Given the description of an element on the screen output the (x, y) to click on. 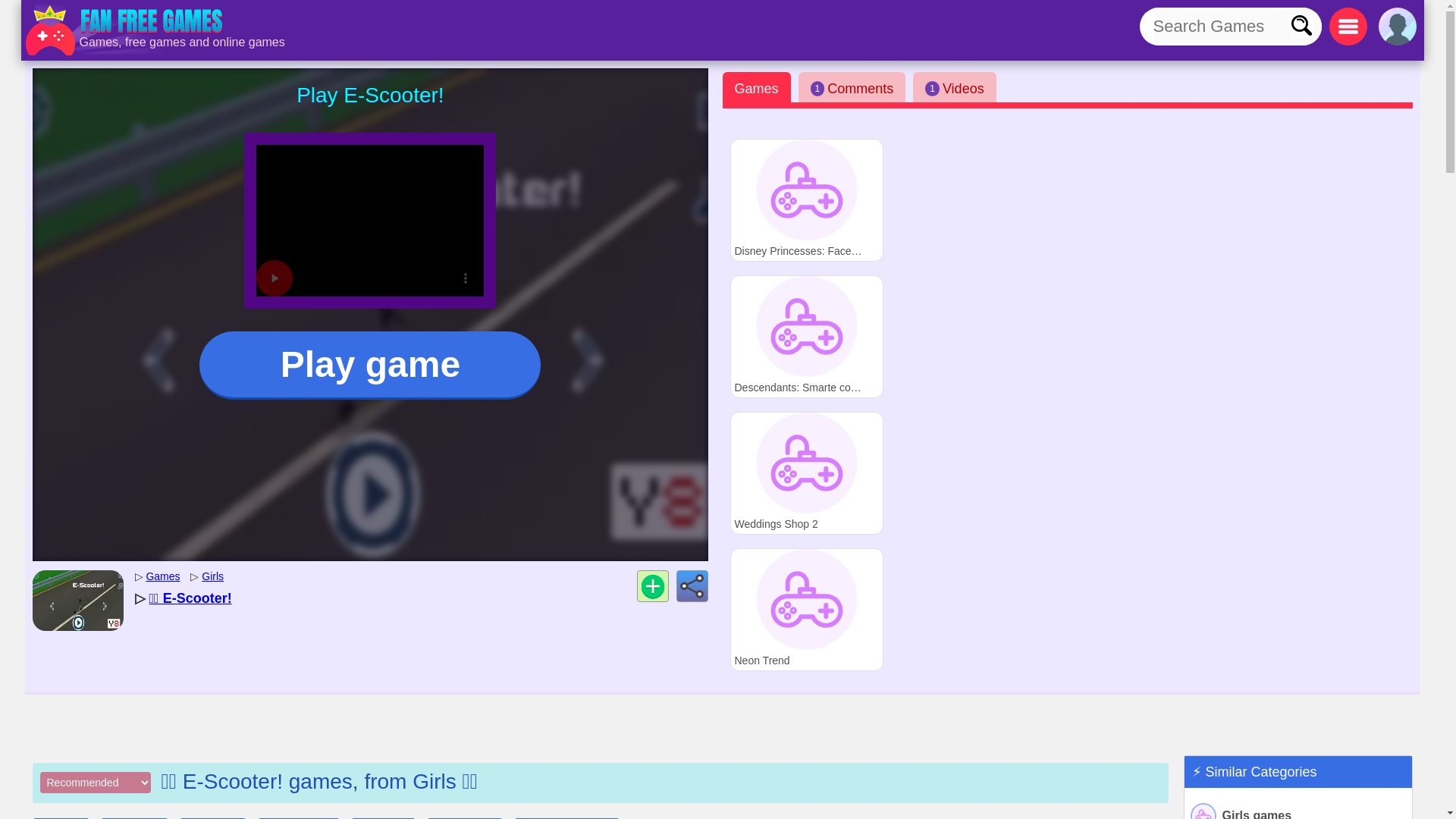
Create your game list (652, 585)
Play game (369, 365)
Descendants: Smarte couture (805, 336)
Disney Princesses: FaceSwap (953, 87)
Weddings Shop 2 (805, 199)
Free Girls games (805, 472)
Girls (213, 576)
Free Girls games (213, 576)
Weddings Shop 2 (1298, 809)
Games (805, 472)
Neon Trend (162, 576)
Descendants: Smarte couture (805, 608)
